Given the description of an element on the screen output the (x, y) to click on. 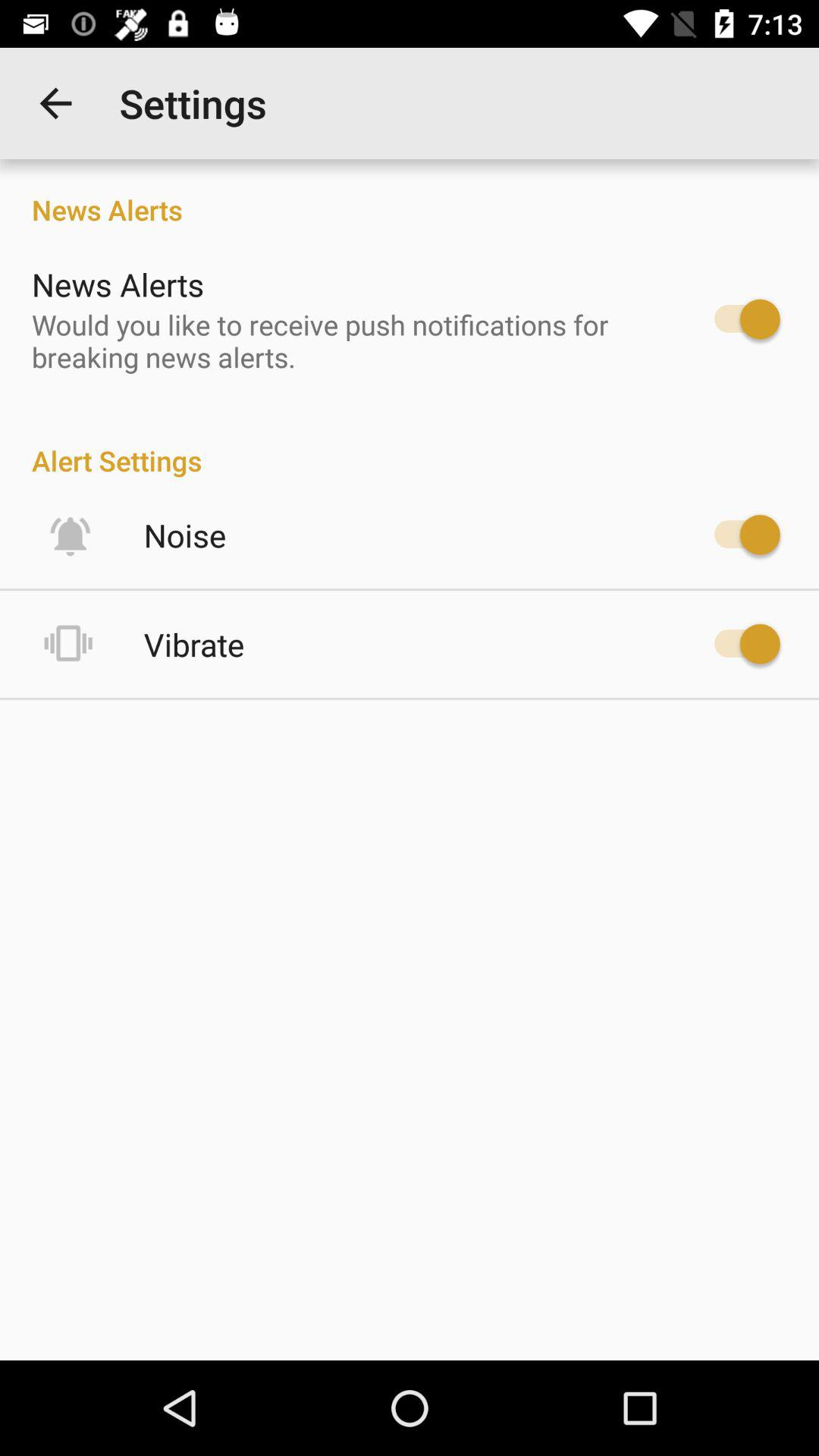
choose the vibrate (193, 644)
